Given the description of an element on the screen output the (x, y) to click on. 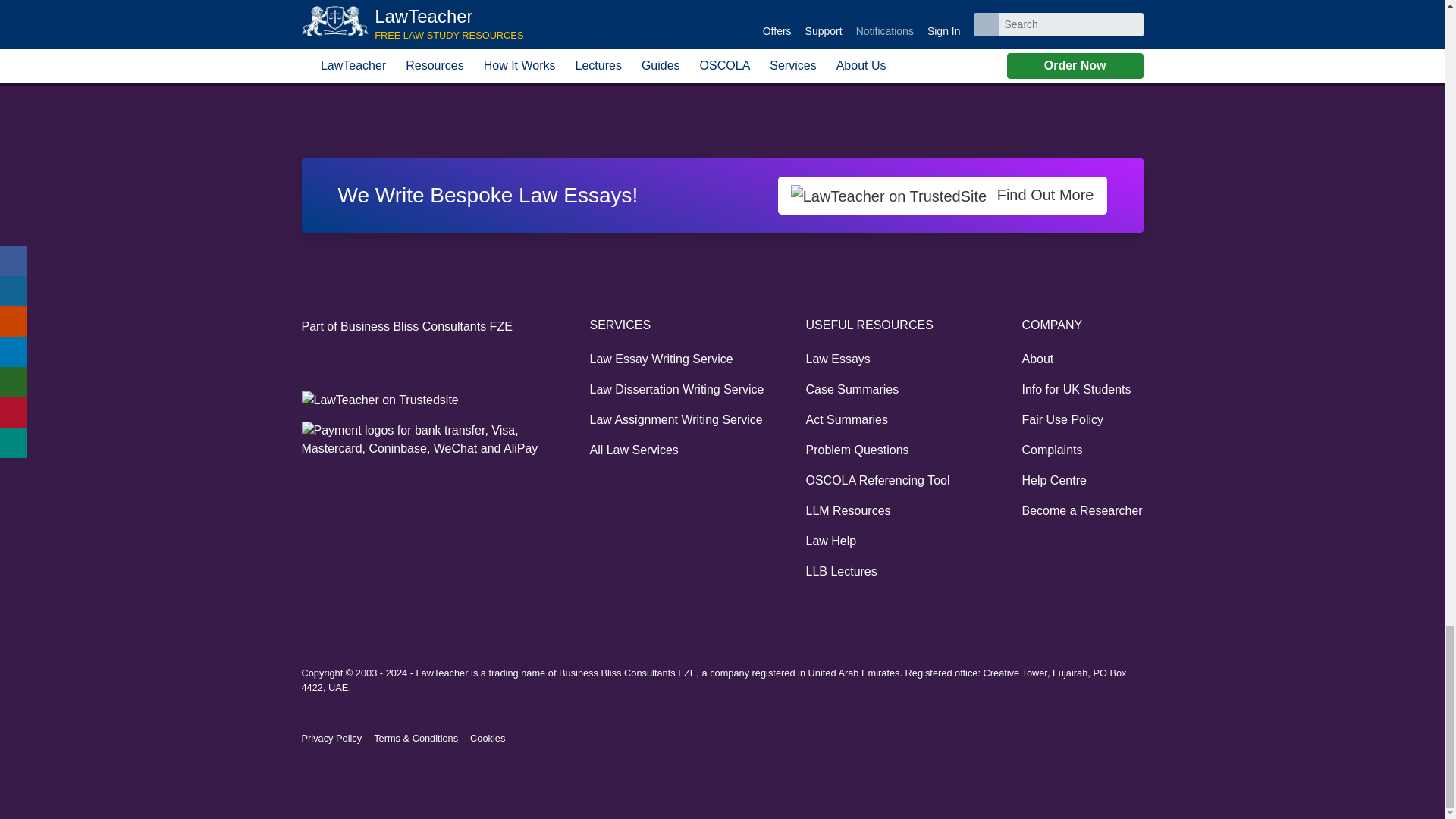
homepage link (309, 69)
